Given the description of an element on the screen output the (x, y) to click on. 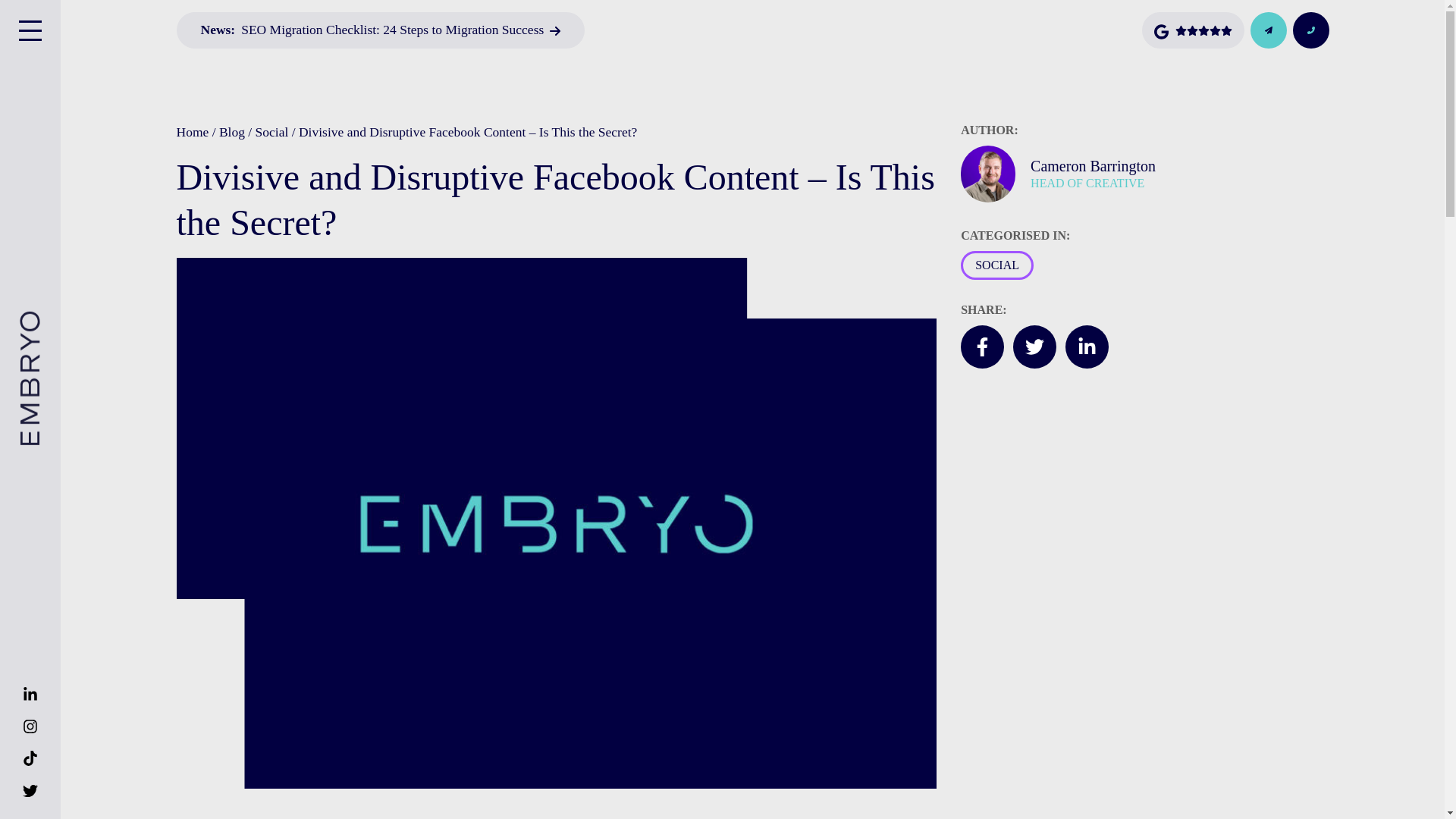
Follow us on TikTok (30, 757)
Follow us on LinkedIn (30, 694)
Follow us on Instagram (30, 726)
Embryo Digital Homepage (103, 324)
SOCIAL (996, 265)
Social (272, 131)
Cameron Barrington (1178, 166)
Home (192, 131)
Blog (231, 131)
Check out our Google reviews! (1192, 30)
